Given the description of an element on the screen output the (x, y) to click on. 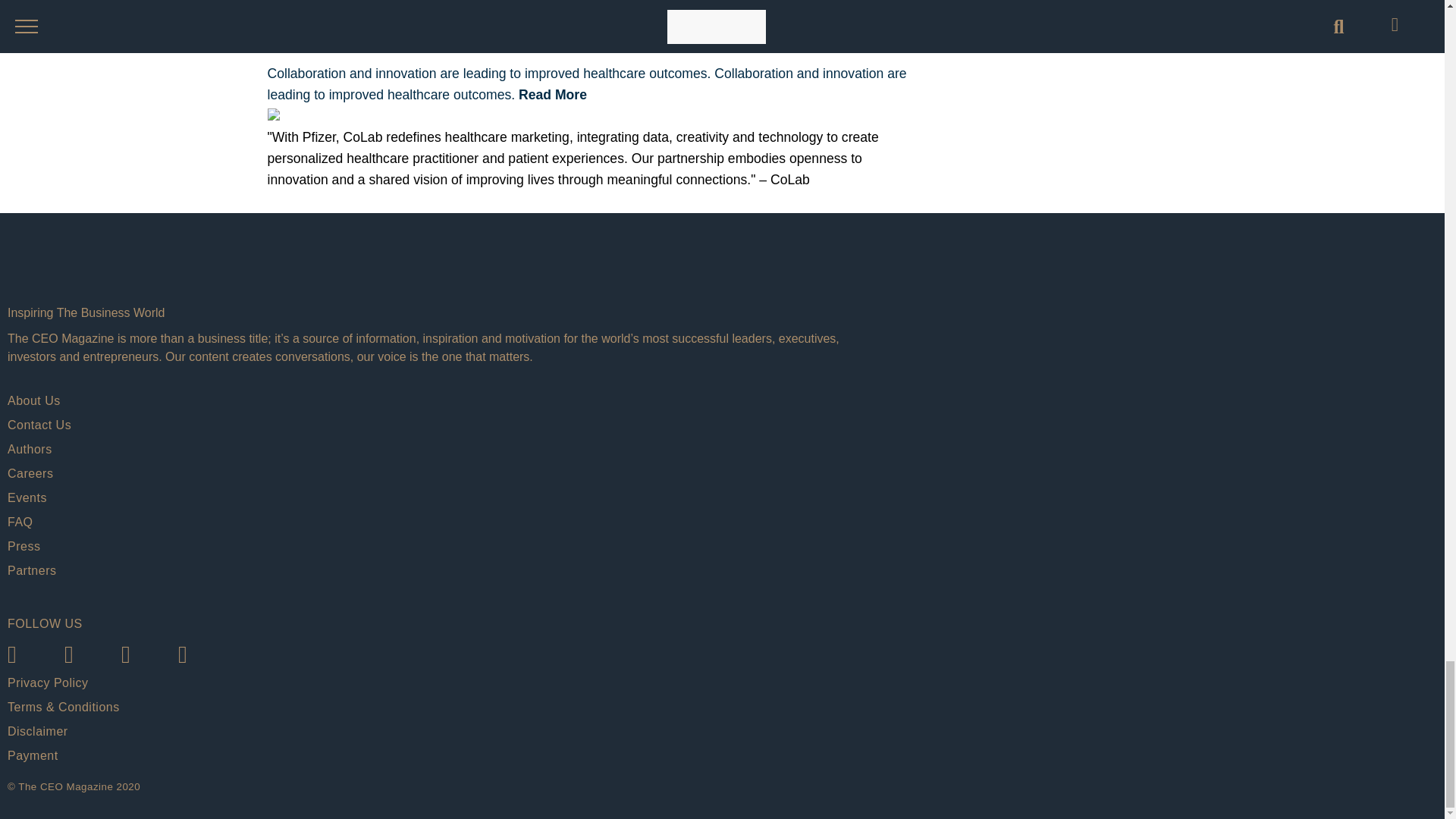
Contact Us (443, 425)
The CEO Magazine Australia Twitter (92, 656)
About Us (443, 401)
Privacy Policy (443, 682)
Press (443, 546)
About Us (443, 401)
Partners (443, 570)
The CEO Magazine (443, 273)
Careers (443, 473)
Authors (443, 449)
